Given the description of an element on the screen output the (x, y) to click on. 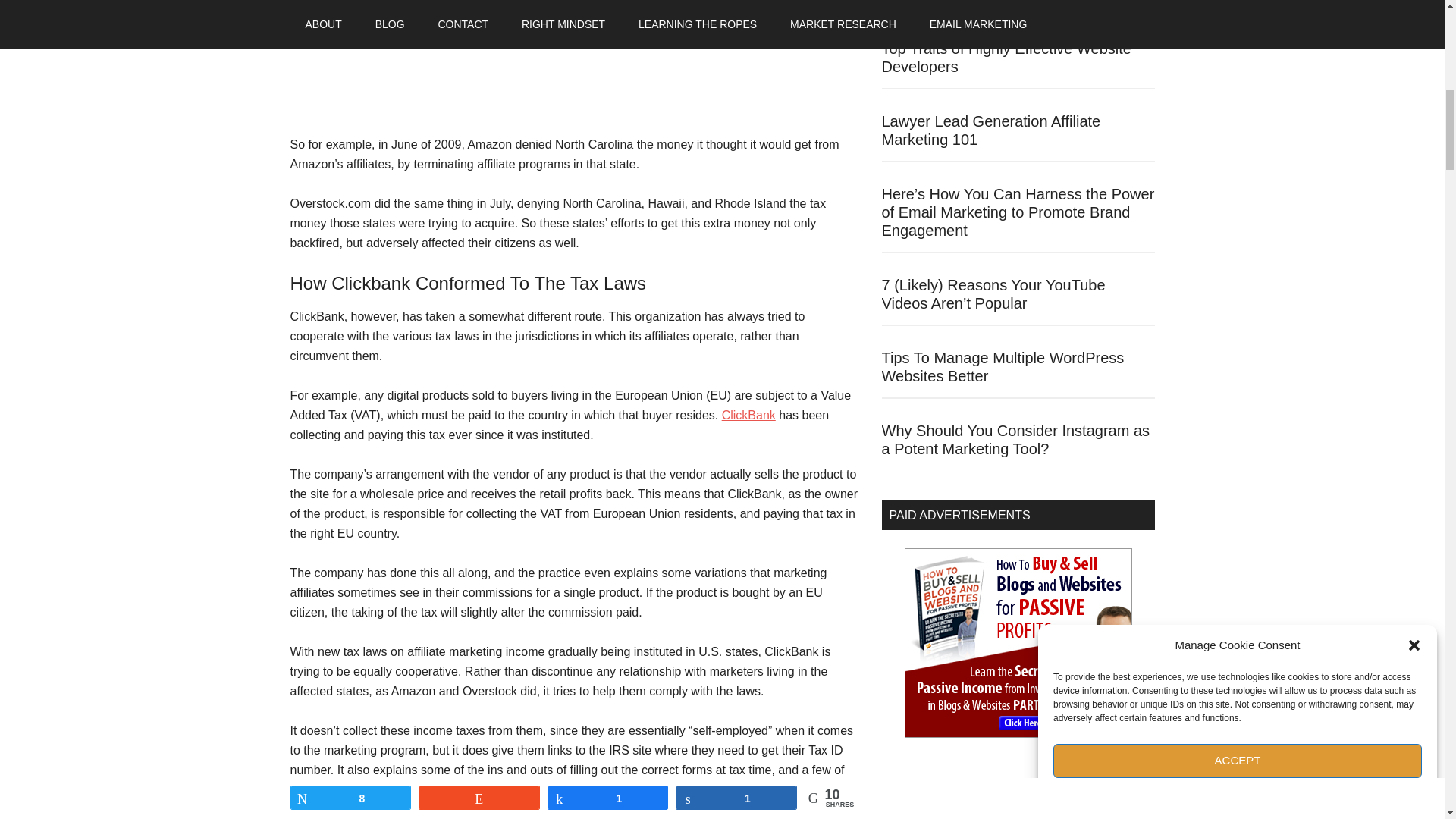
Advertisement (574, 67)
Clickbank Finding Products To Promote (750, 414)
